Given the description of an element on the screen output the (x, y) to click on. 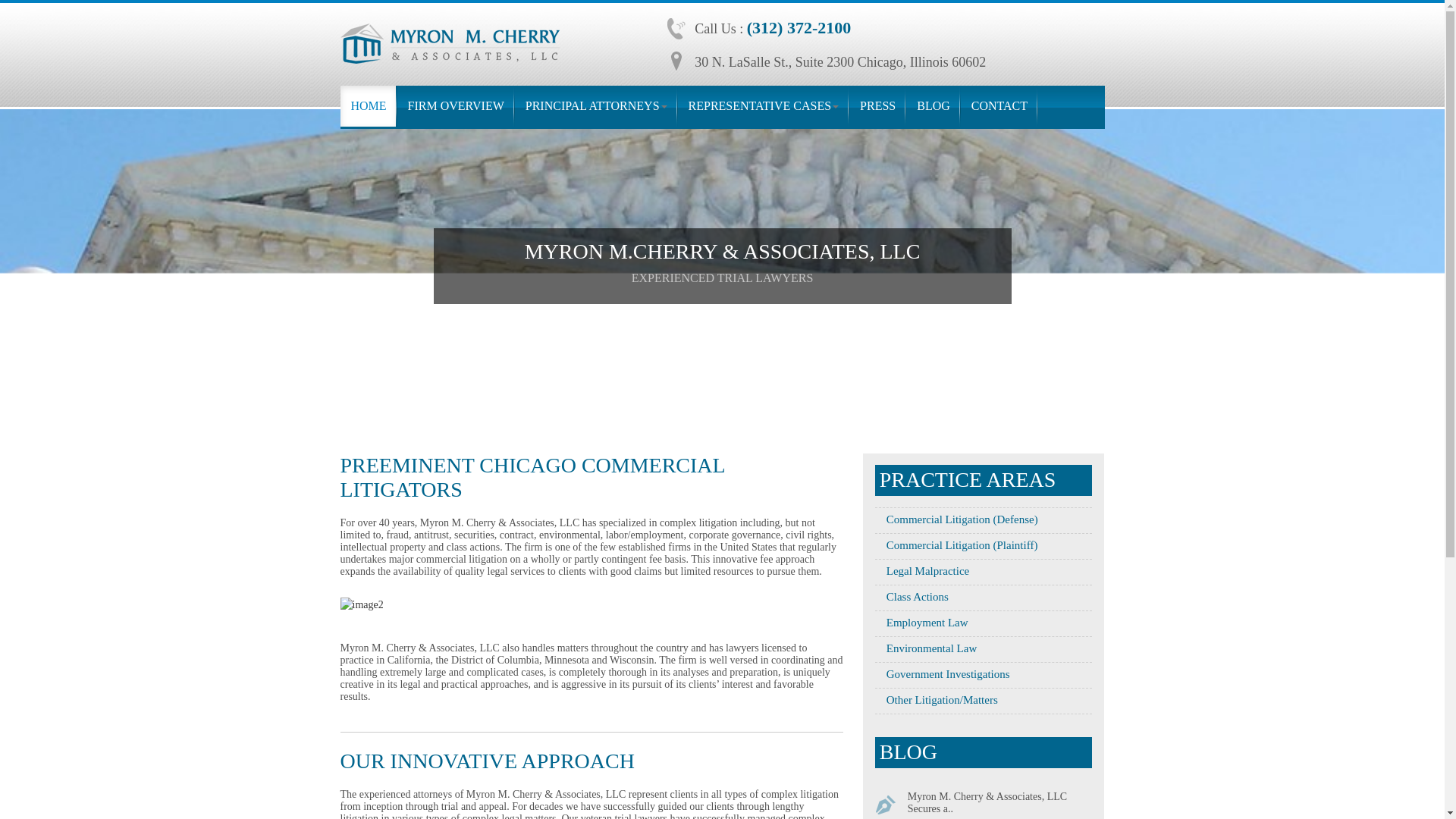
PRESS (876, 105)
Employment Law (921, 622)
Environmental Law (925, 648)
Government Investigations (942, 674)
PRINCIPAL ATTORNEYS (596, 105)
HOME (367, 105)
Legal Malpractice (922, 571)
BLOG (932, 105)
Class Actions (912, 596)
REPRESENTATIVE CASES (764, 105)
